Given the description of an element on the screen output the (x, y) to click on. 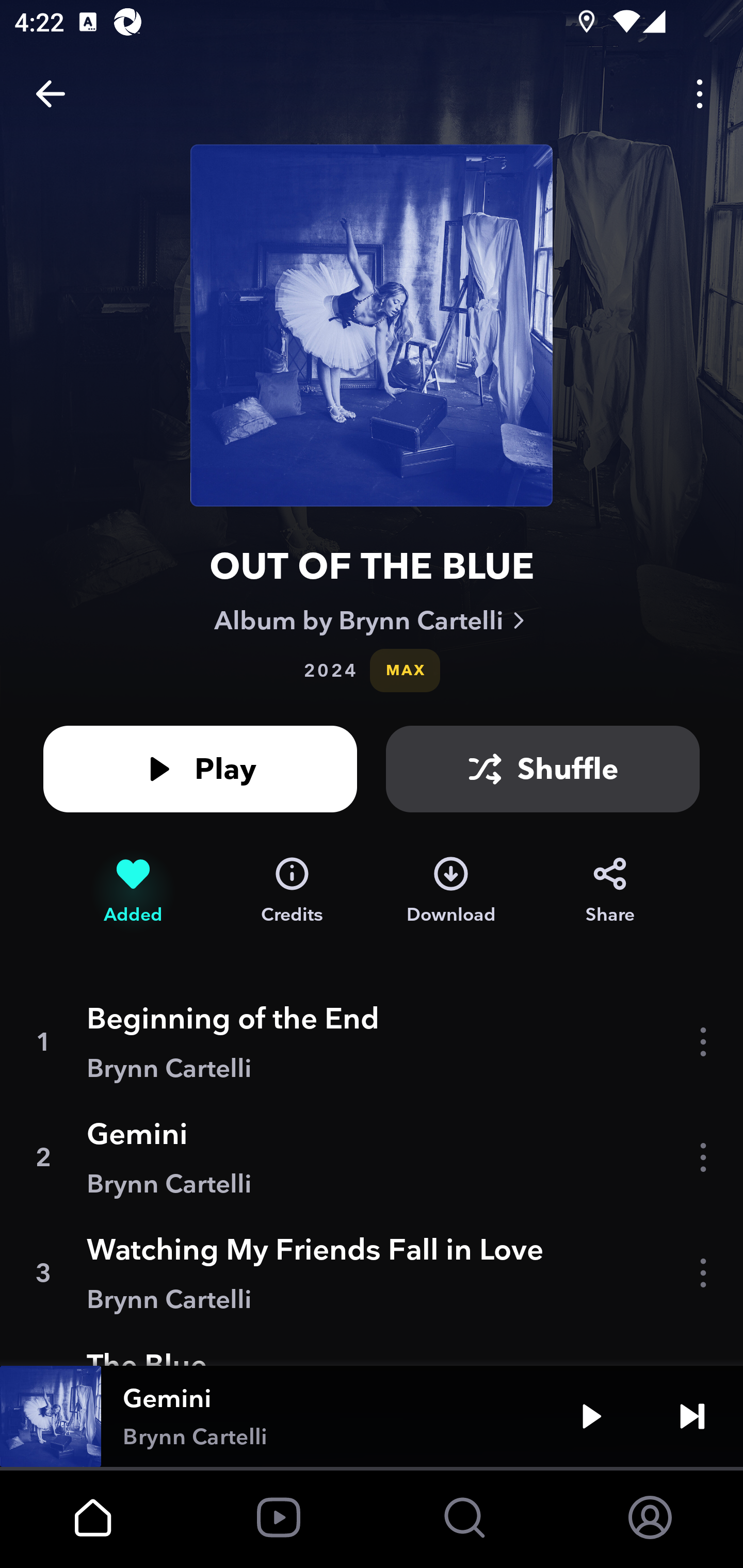
Options (699, 93)
OUT OF THE BLUE (371, 565)
Album by Brynn Cartelli (371, 619)
Play (200, 768)
Shuffle (542, 768)
Remove from My Collection Added (132, 890)
Credits (291, 890)
Download (450, 890)
Share (609, 890)
1 Beginning of the End Brynn Cartelli (371, 1041)
2 Gemini Brynn Cartelli (371, 1157)
3 Watching My Friends Fall in Love Brynn Cartelli (371, 1273)
Gemini Brynn Cartelli Play (371, 1416)
Play (590, 1416)
